Given the description of an element on the screen output the (x, y) to click on. 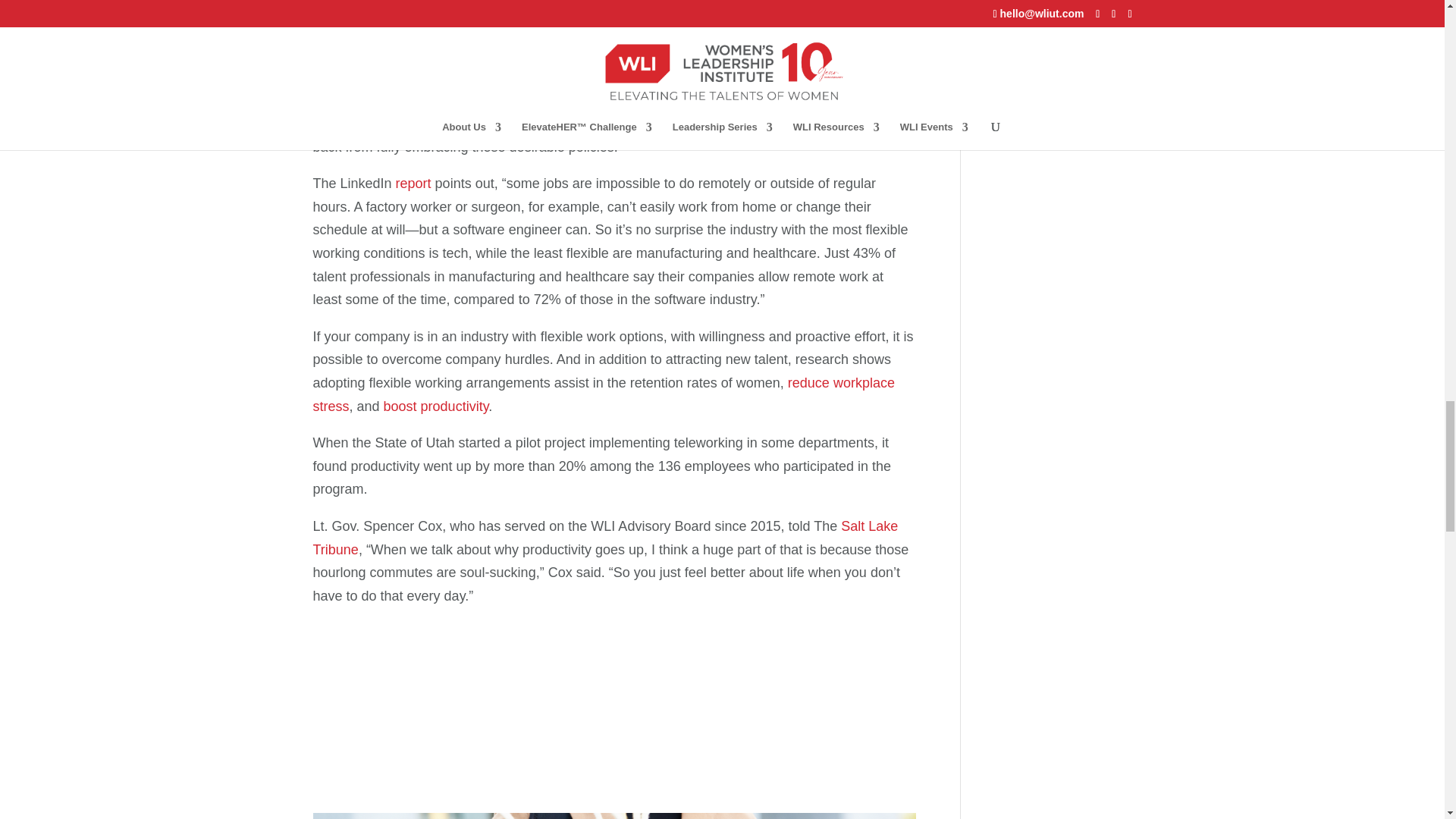
boost productivity (436, 406)
report (413, 183)
reduce workplace stress (603, 394)
